Given the description of an element on the screen output the (x, y) to click on. 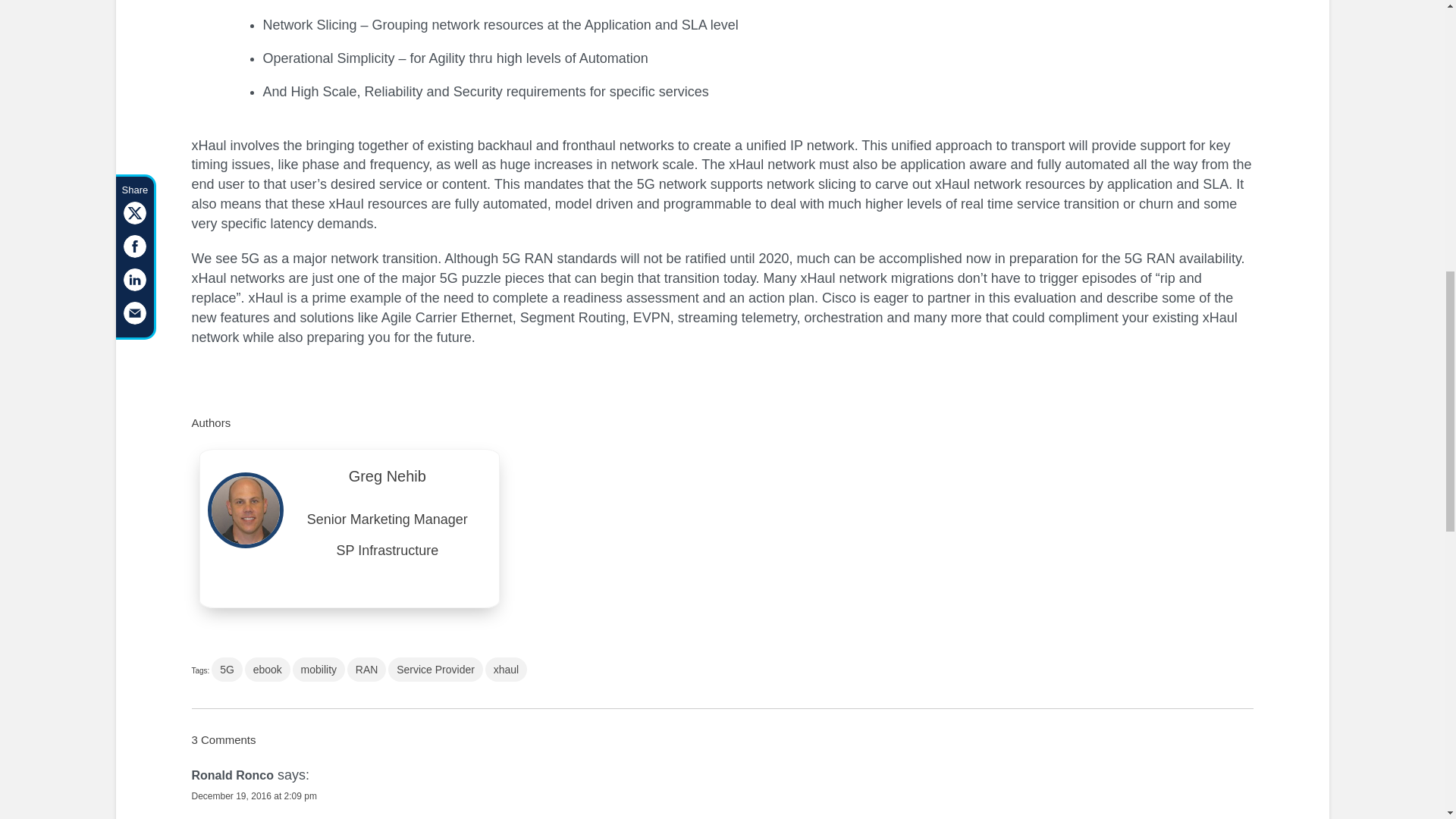
RAN (367, 669)
xhaul (505, 669)
ebook (266, 669)
December 19, 2016 at 2:09 pm (252, 796)
Service Provider (435, 669)
mobility (318, 669)
5G (227, 669)
Greg Nehib (387, 480)
